Given the description of an element on the screen output the (x, y) to click on. 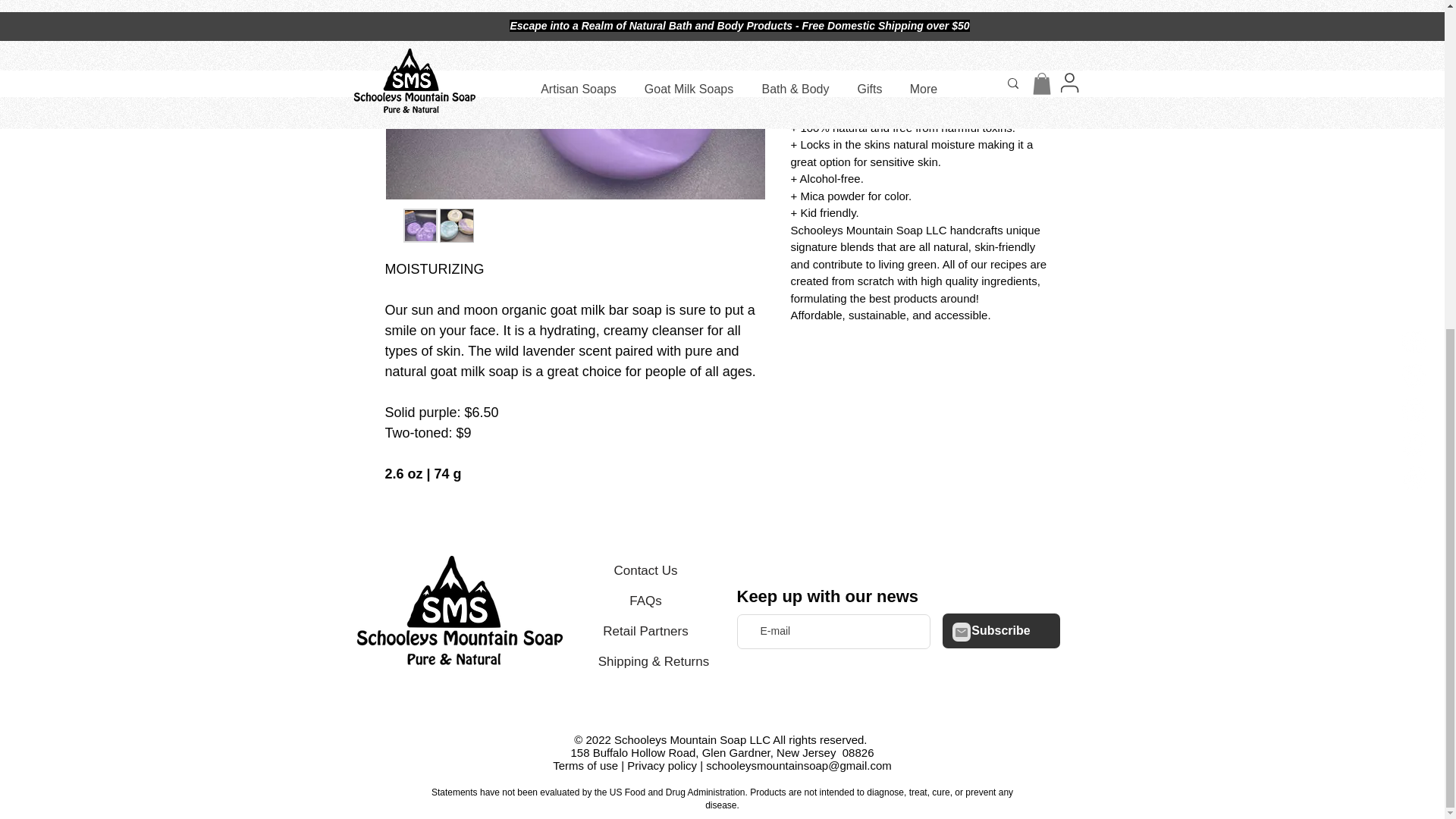
Retail Partners (644, 631)
PRODUCT INFO (924, 60)
Contact Us (644, 571)
Subscribe (1000, 630)
FAQs (644, 601)
BUY NOW (924, 6)
